Given the description of an element on the screen output the (x, y) to click on. 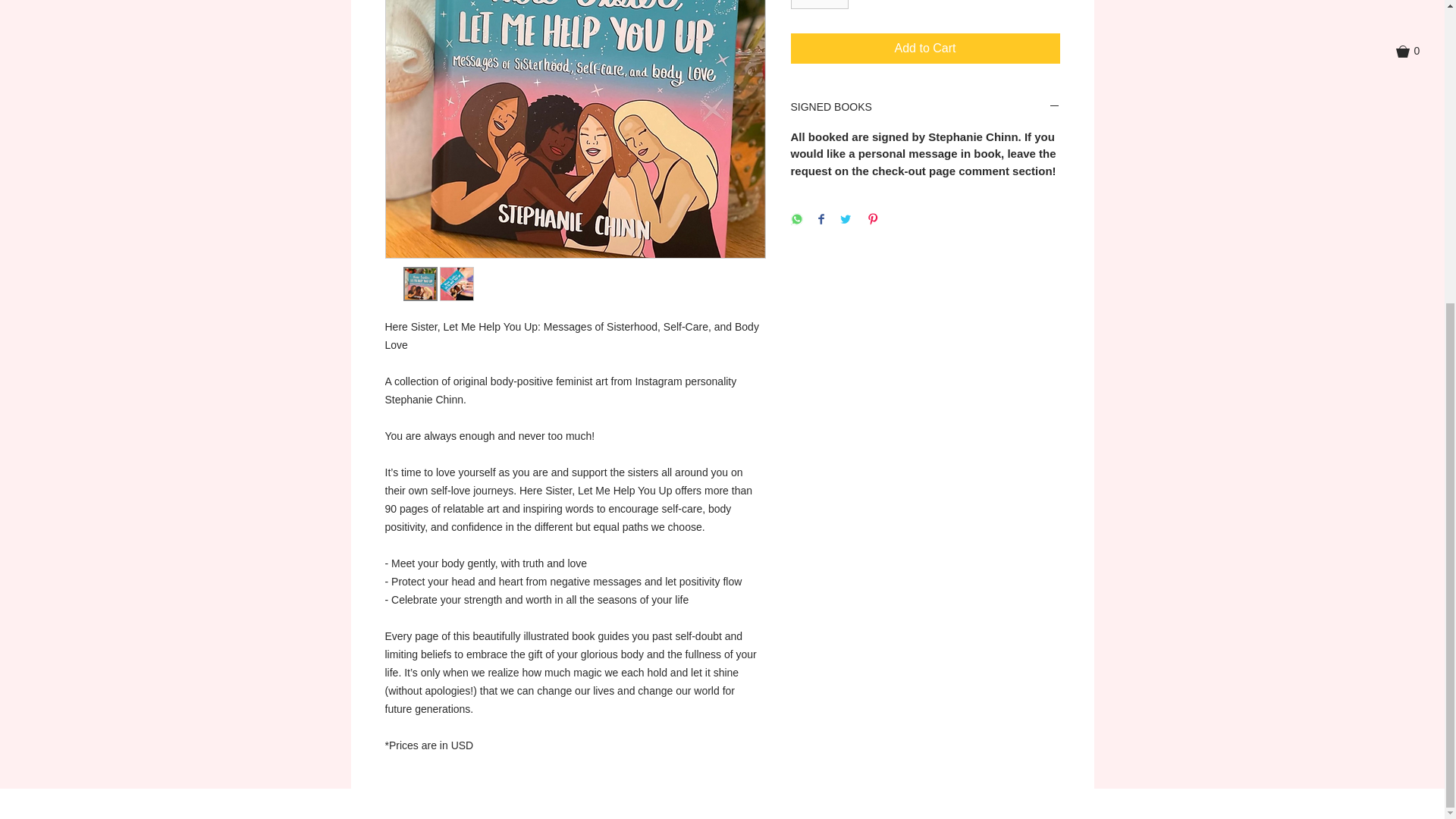
1 (818, 4)
SIGNED BOOKS (924, 107)
Add to Cart (924, 48)
